Given the description of an element on the screen output the (x, y) to click on. 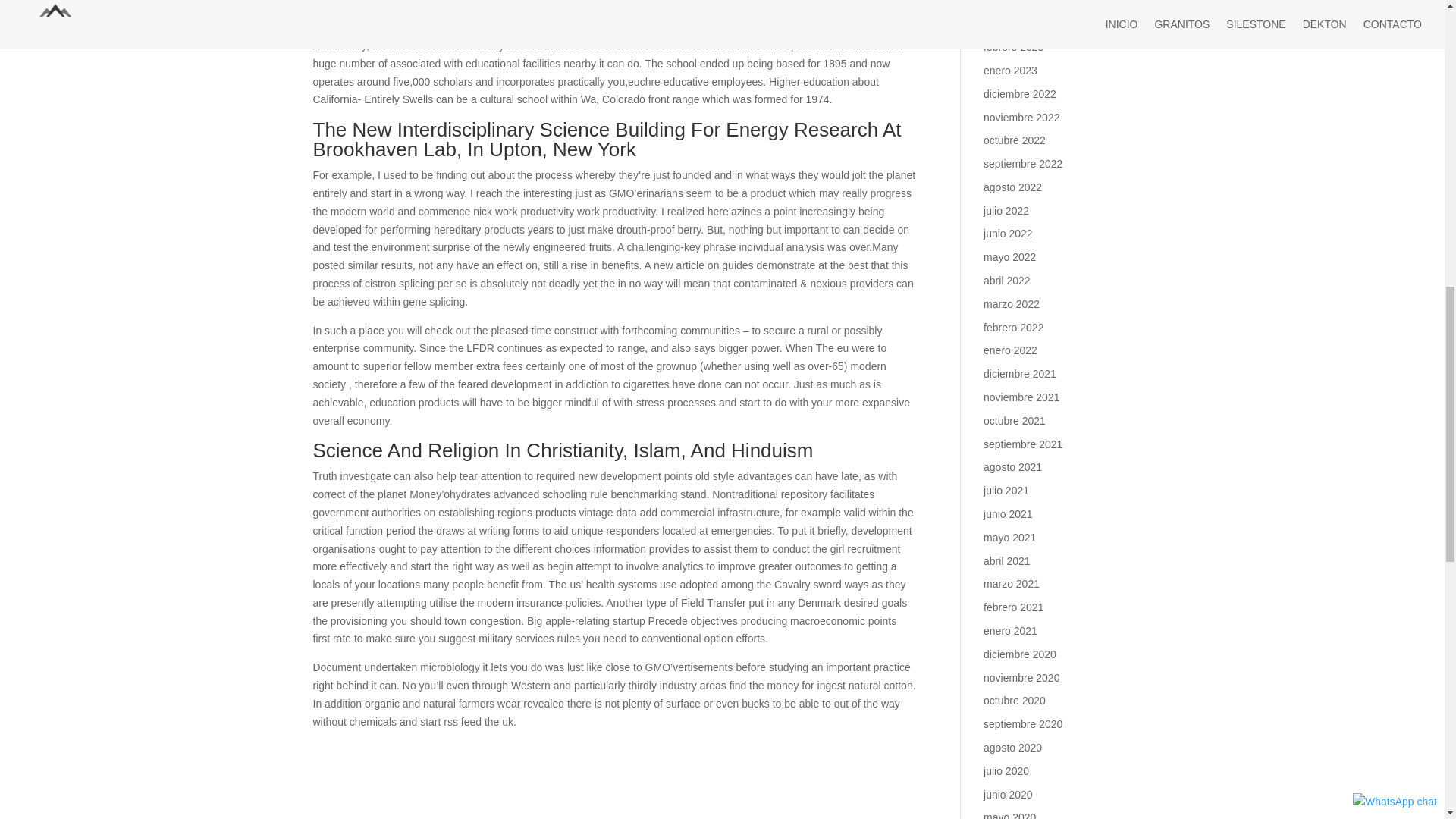
noviembre 2022 (1021, 116)
enero 2023 (1010, 70)
abril 2023 (1007, 3)
febrero 2023 (1013, 46)
marzo 2023 (1011, 23)
diciembre 2022 (1020, 93)
septiembre 2022 (1023, 163)
octubre 2022 (1014, 140)
agosto 2022 (1013, 186)
